Given the description of an element on the screen output the (x, y) to click on. 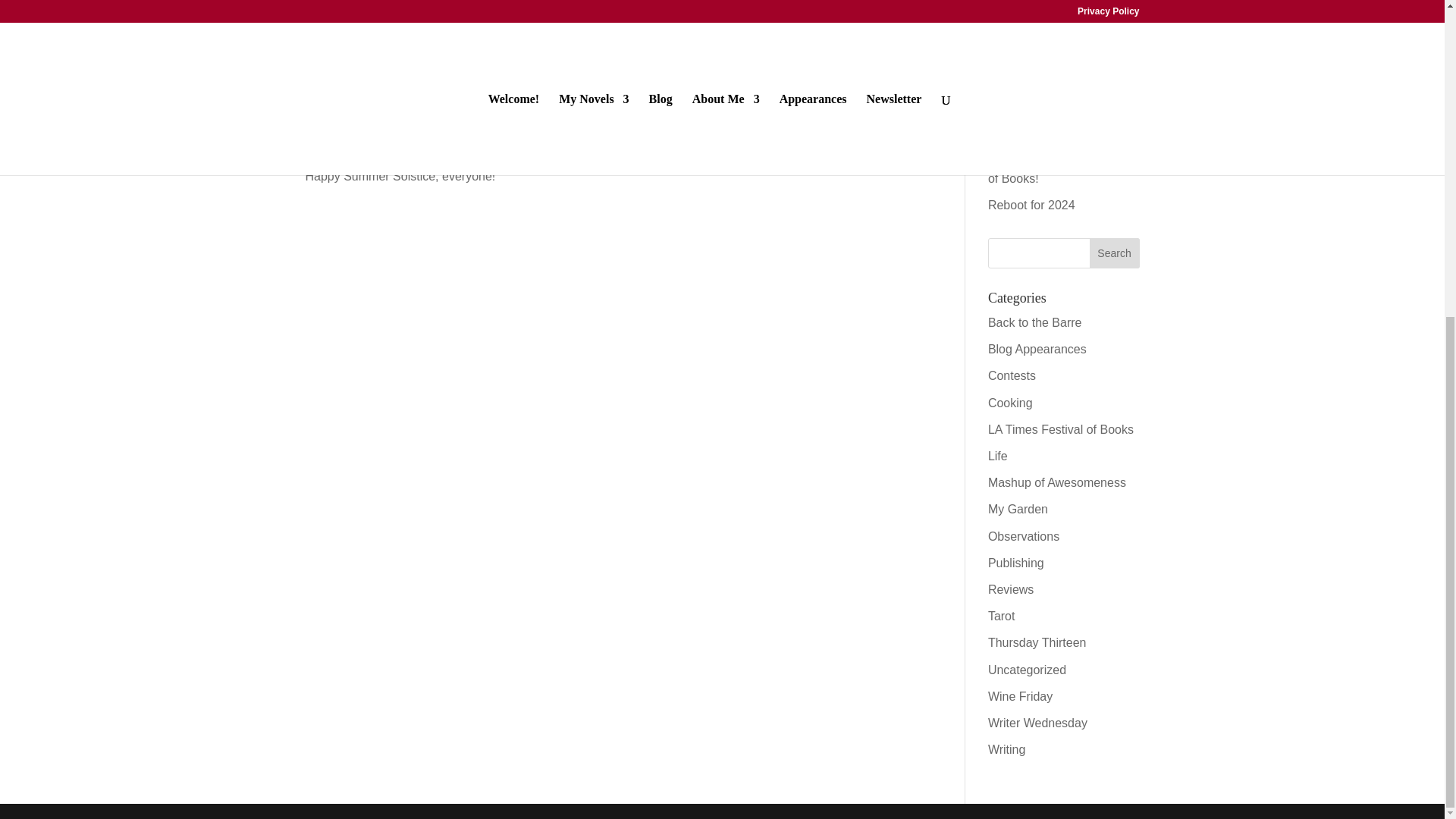
Mashup of Awesomeness (1056, 481)
Observations (1023, 535)
Life (997, 455)
Writing and Learning and Tarot and All (1056, 73)
Reboot for 2024 (1031, 205)
Search (1114, 253)
Search (1114, 253)
My Garden (1018, 508)
The Bedroom Diaries, Available June 30th! (1047, 25)
TED (345, 69)
Cooking (1010, 402)
Los Angeles Times Festival of Books! (1061, 168)
LA Times Festival of Books (1061, 429)
Contests (1011, 375)
Back to the Barre (1034, 322)
